Given the description of an element on the screen output the (x, y) to click on. 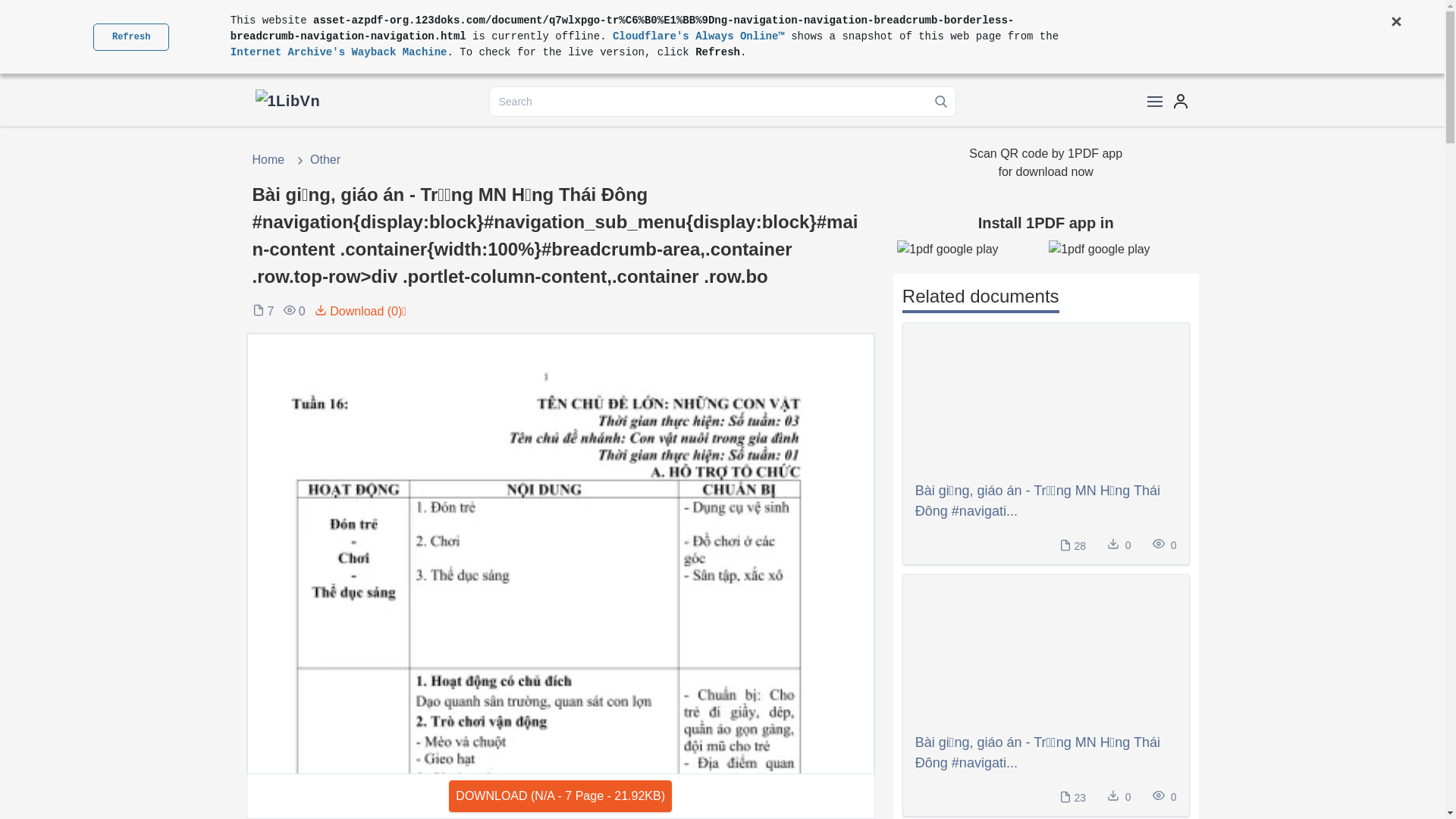
Home Element type: text (269, 159)
DOWNLOAD (N/A - 7 Page - 21.92KB) Element type: text (559, 796)
Refresh Element type: text (131, 36)
Download (0) Element type: text (354, 311)
  Other Element type: text (317, 159)
Internet Archive's Wayback Machine Element type: text (338, 52)
